Given the description of an element on the screen output the (x, y) to click on. 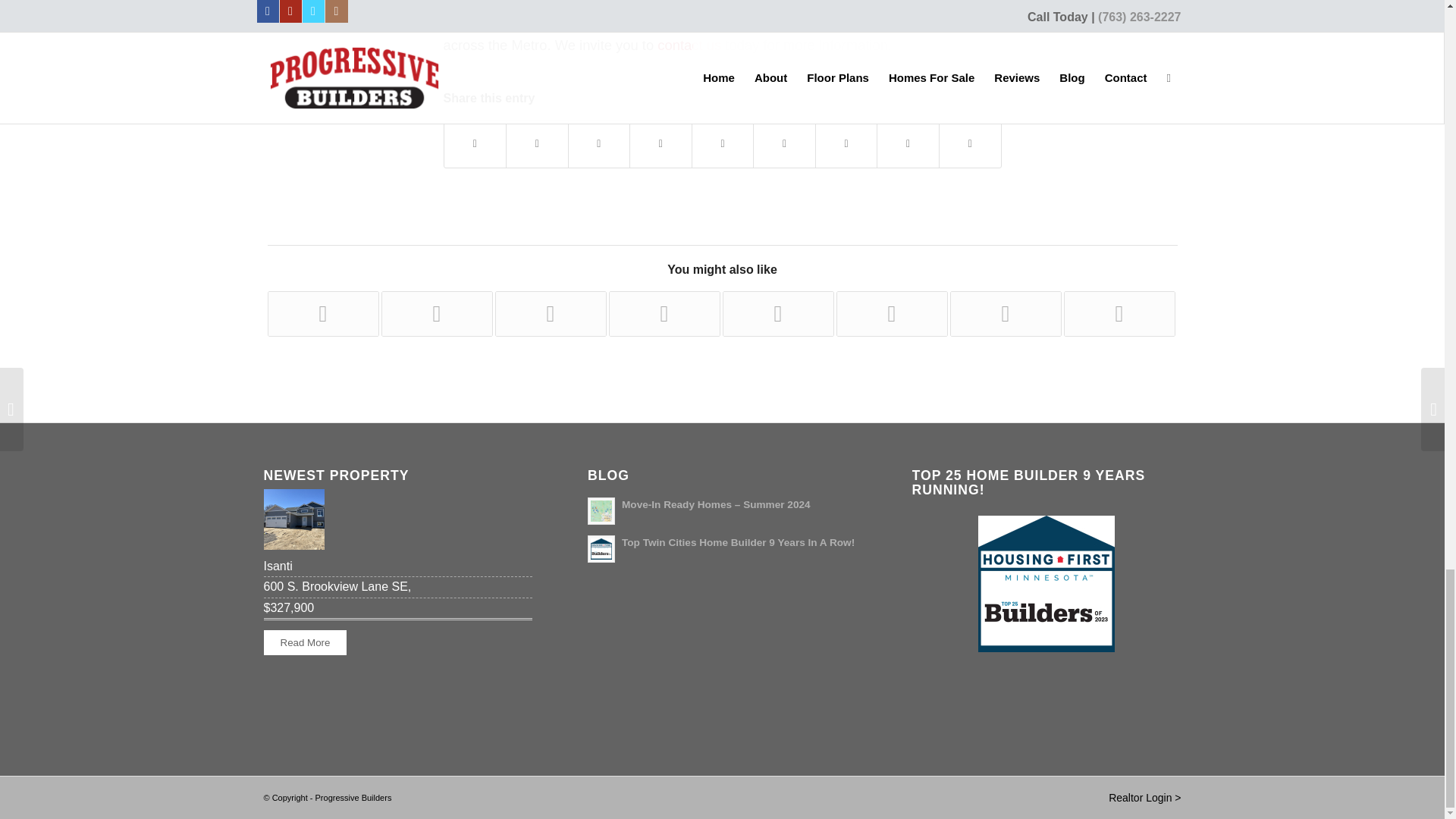
Read More (305, 642)
contact us (689, 44)
home plans (566, 20)
Top 3 Ways to Help Find the Right Builder for Your New Home (322, 313)
